Given the description of an element on the screen output the (x, y) to click on. 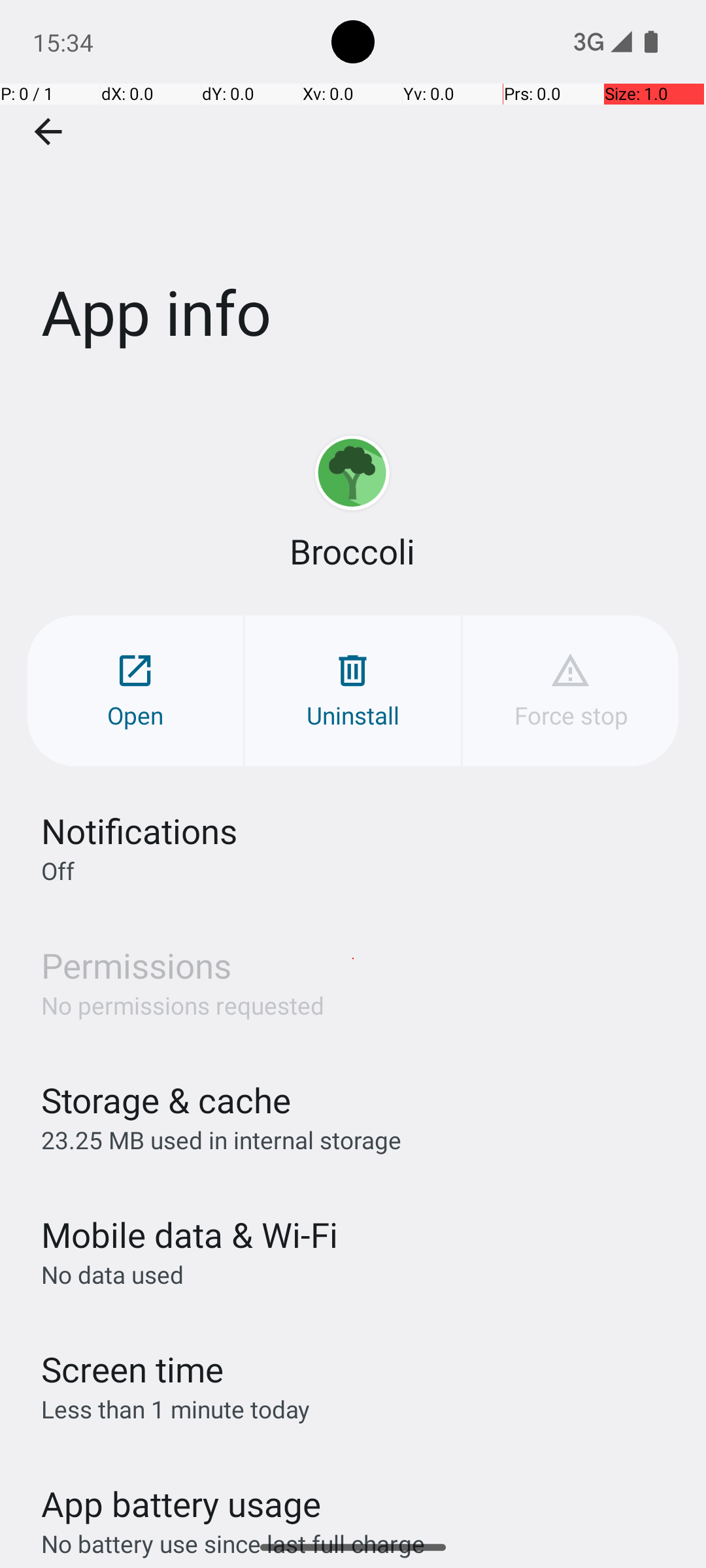
No permissions requested Element type: android.widget.TextView (182, 1004)
23.25 MB used in internal storage Element type: android.widget.TextView (221, 1139)
Less than 1 minute today Element type: android.widget.TextView (175, 1408)
